Given the description of an element on the screen output the (x, y) to click on. 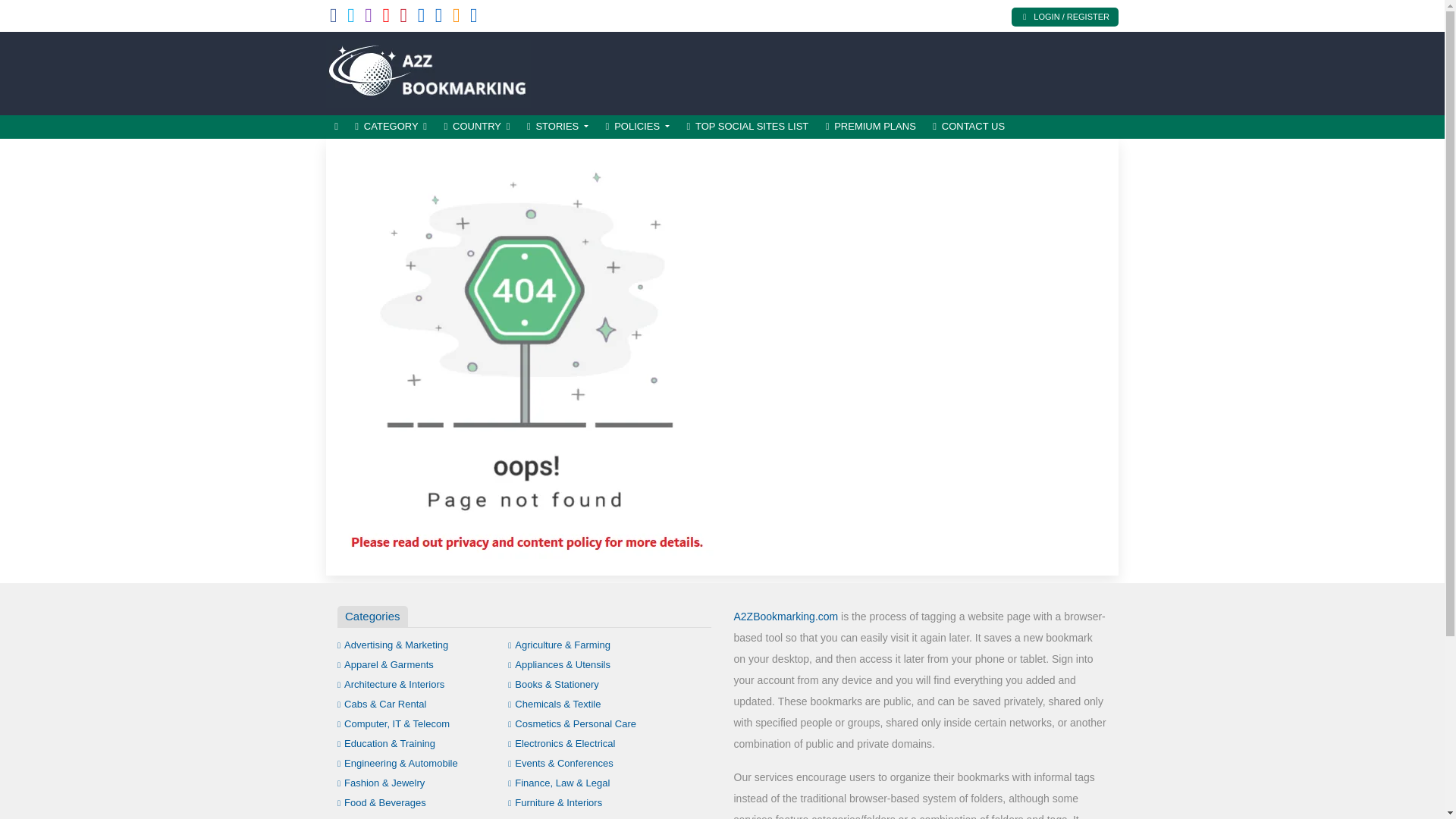
CATEGORY (390, 126)
Submit Quality Articles to Dofollow Social Bookmarking Site (428, 71)
